Given the description of an element on the screen output the (x, y) to click on. 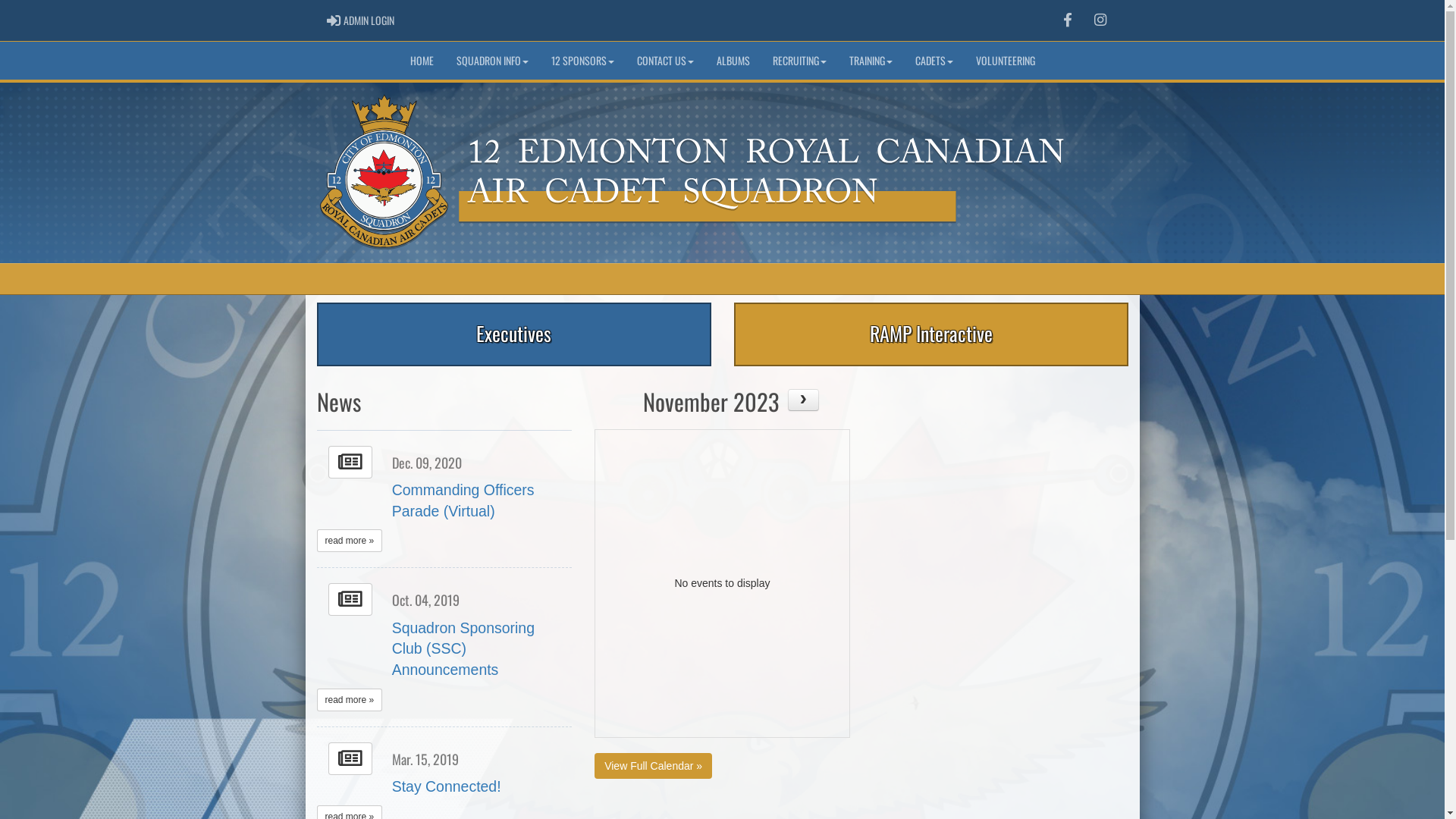
ALBUMS Element type: text (733, 60)
Commanding Officers Parade (Virtual) Element type: text (463, 500)
RAMP Interactive Element type: text (931, 334)
Login Page Element type: hover (333, 20)
Executives Element type: text (513, 334)
instagram Element type: hover (1100, 19)
Squadron Sponsoring Club (SSC) Announcements Element type: text (463, 648)
TRAINING Element type: text (870, 60)
12 SPONSORS Element type: text (582, 60)
CONTACT US Element type: text (664, 60)
Stay Connected! Element type: text (446, 786)
SQUADRON INFO Element type: text (491, 60)
Instagram Element type: text (1100, 20)
RECRUITING Element type: text (799, 60)
VOLUNTEERING Element type: text (1005, 60)
like us Element type: hover (1067, 19)
Facebook Element type: text (1067, 20)
CADETS Element type: text (933, 60)
LOGIN PAGE
 ADMIN LOGIN
ADMIN LOGIN Element type: text (360, 20)
HOME Element type: text (421, 60)
